Given the description of an element on the screen output the (x, y) to click on. 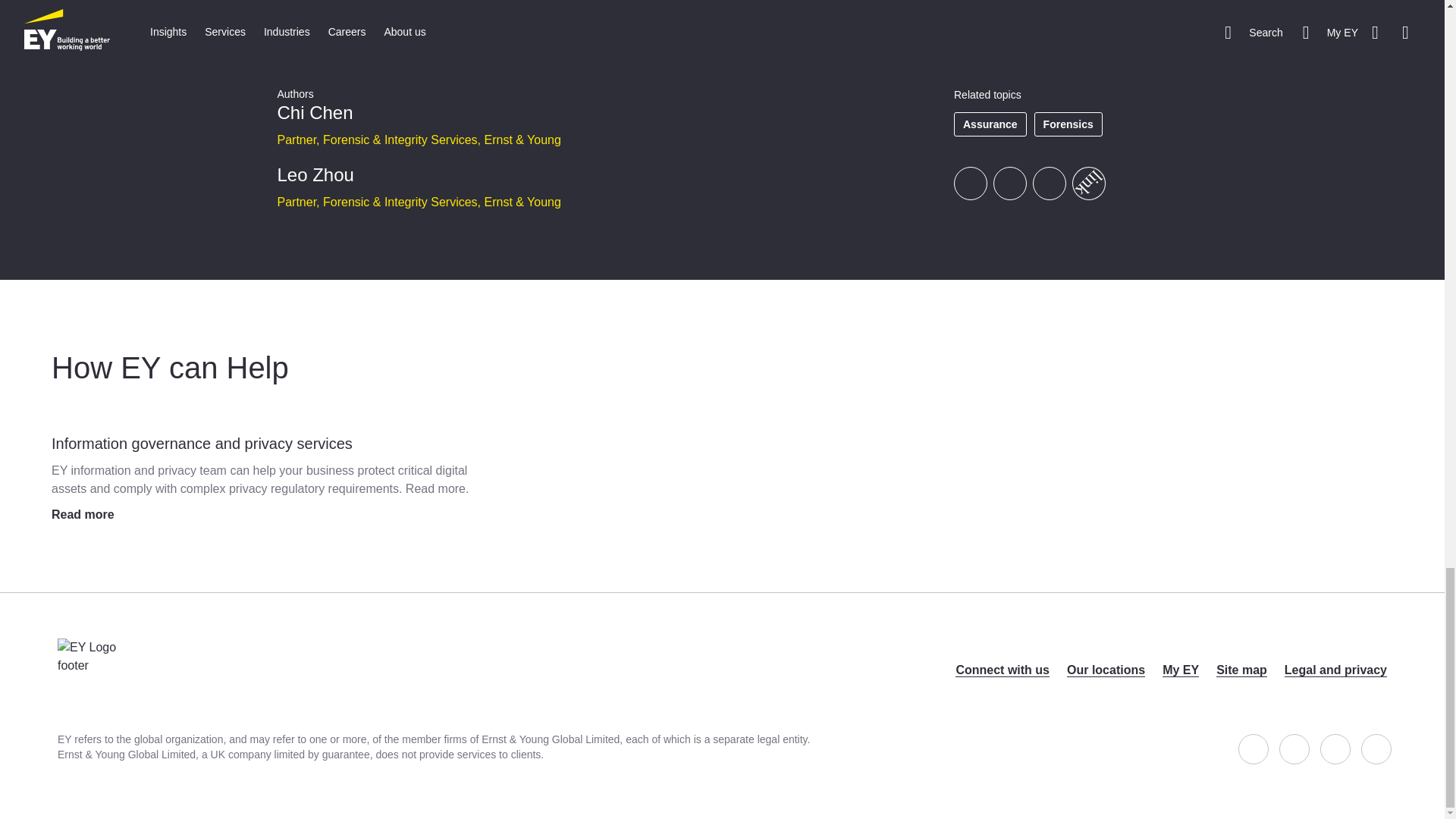
Open X profile (1294, 748)
LinkedIn (1048, 183)
Twitter (1009, 183)
Open LinkedIn profile (1335, 748)
Open Facebook profile (1252, 748)
Copy (1082, 176)
Facebook (970, 183)
